Given the description of an element on the screen output the (x, y) to click on. 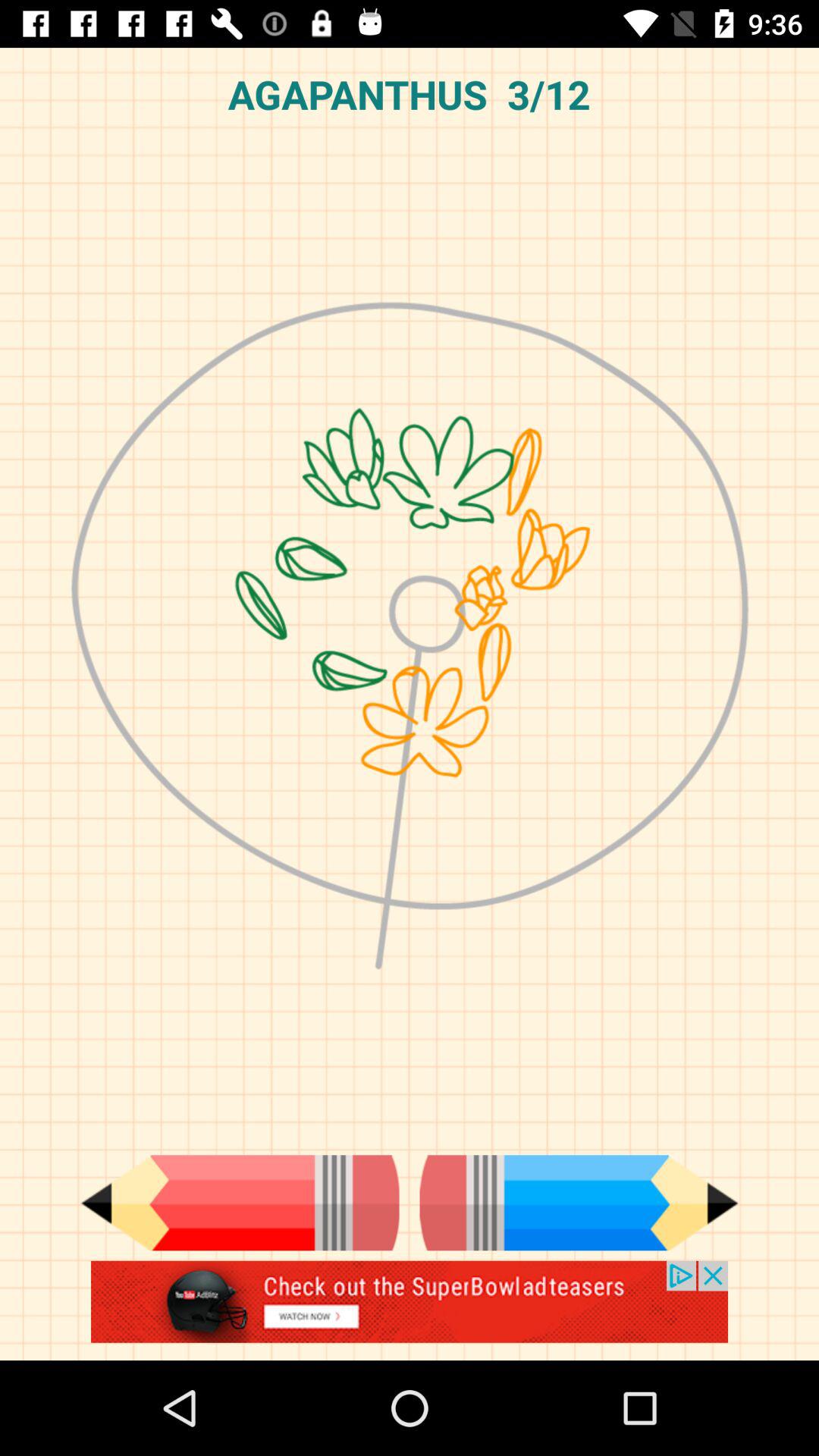
go next (578, 1202)
